Given the description of an element on the screen output the (x, y) to click on. 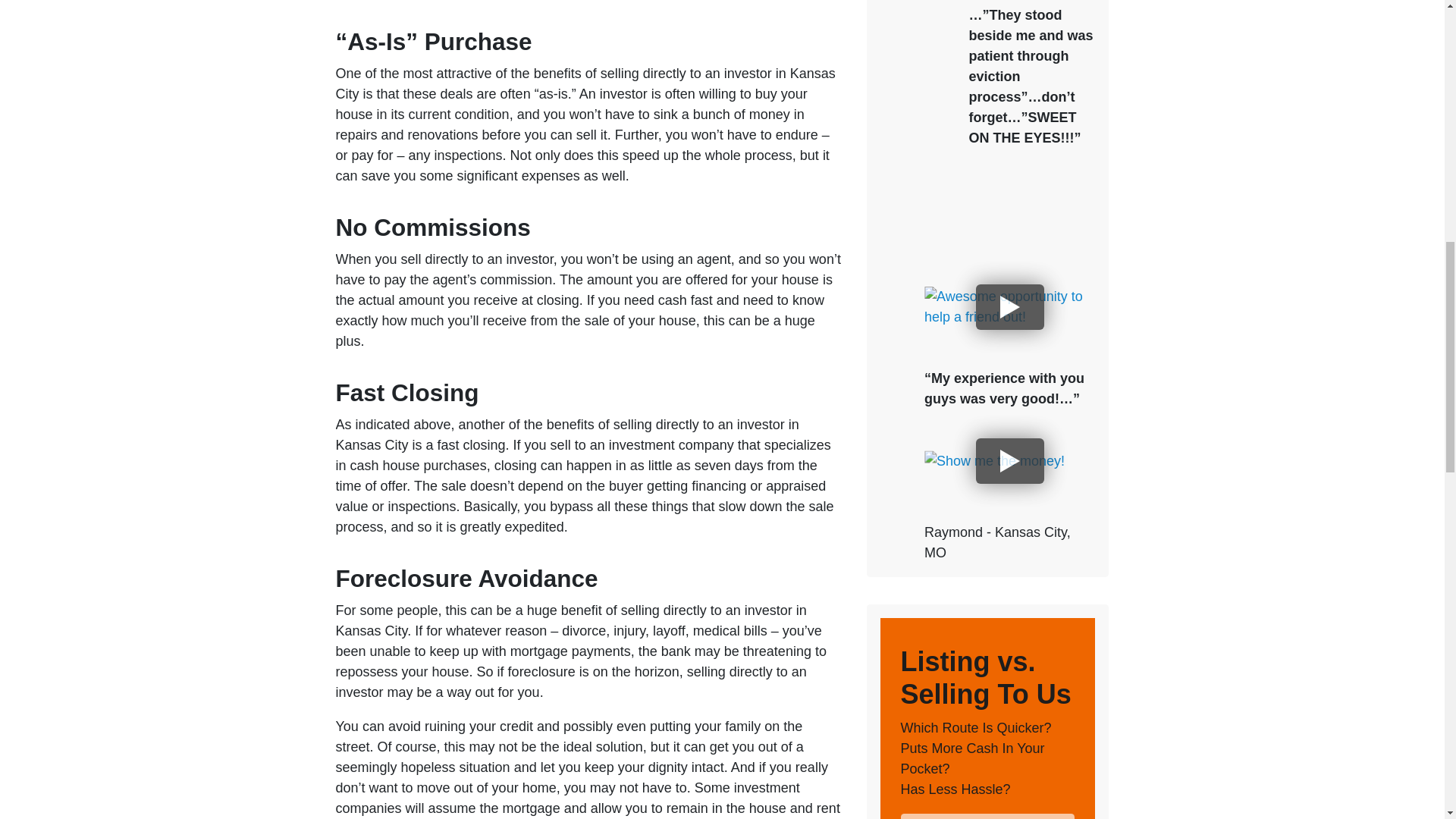
See The Difference Here (988, 816)
